Given the description of an element on the screen output the (x, y) to click on. 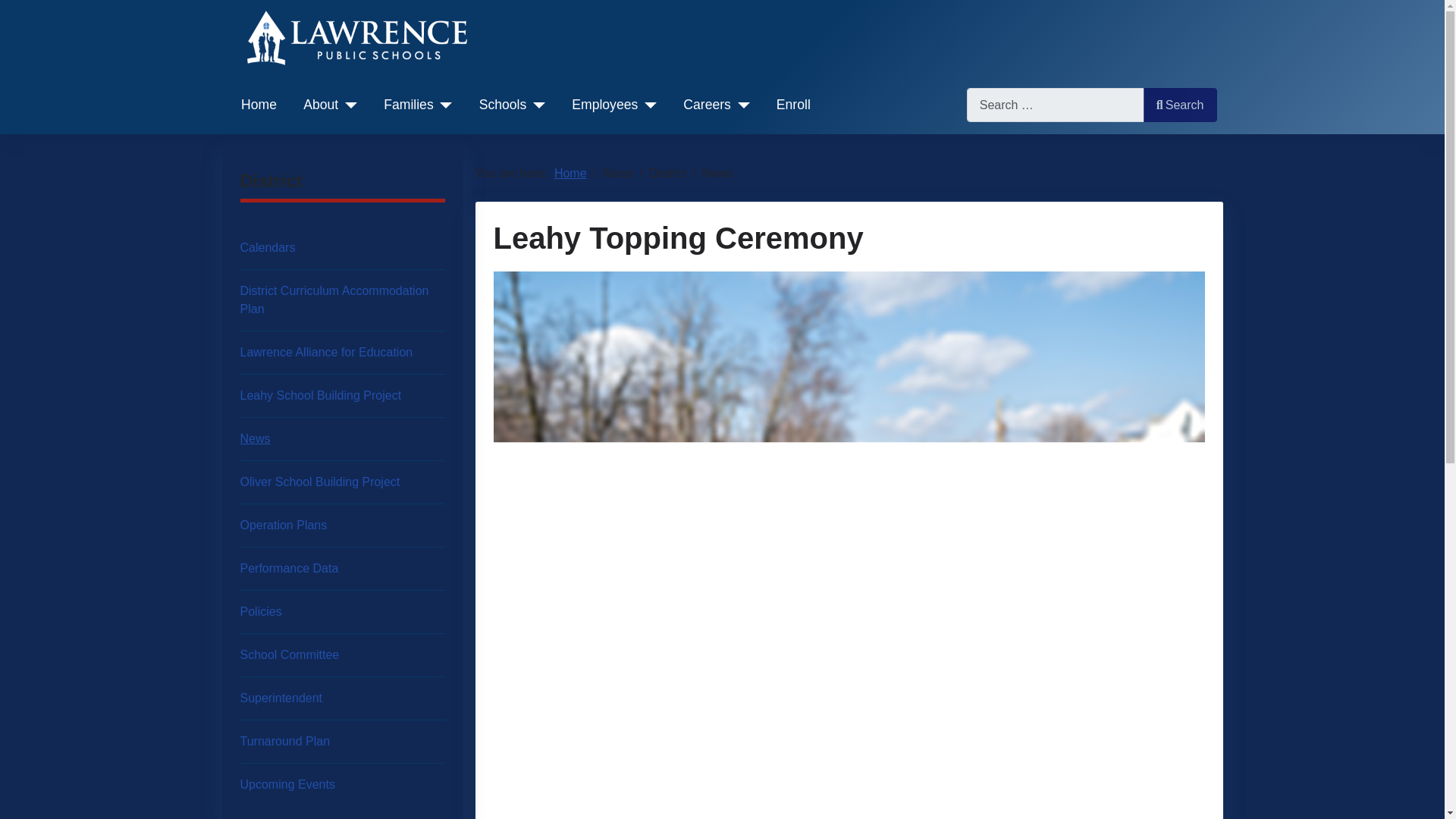
Home (258, 104)
About (329, 104)
